Given the description of an element on the screen output the (x, y) to click on. 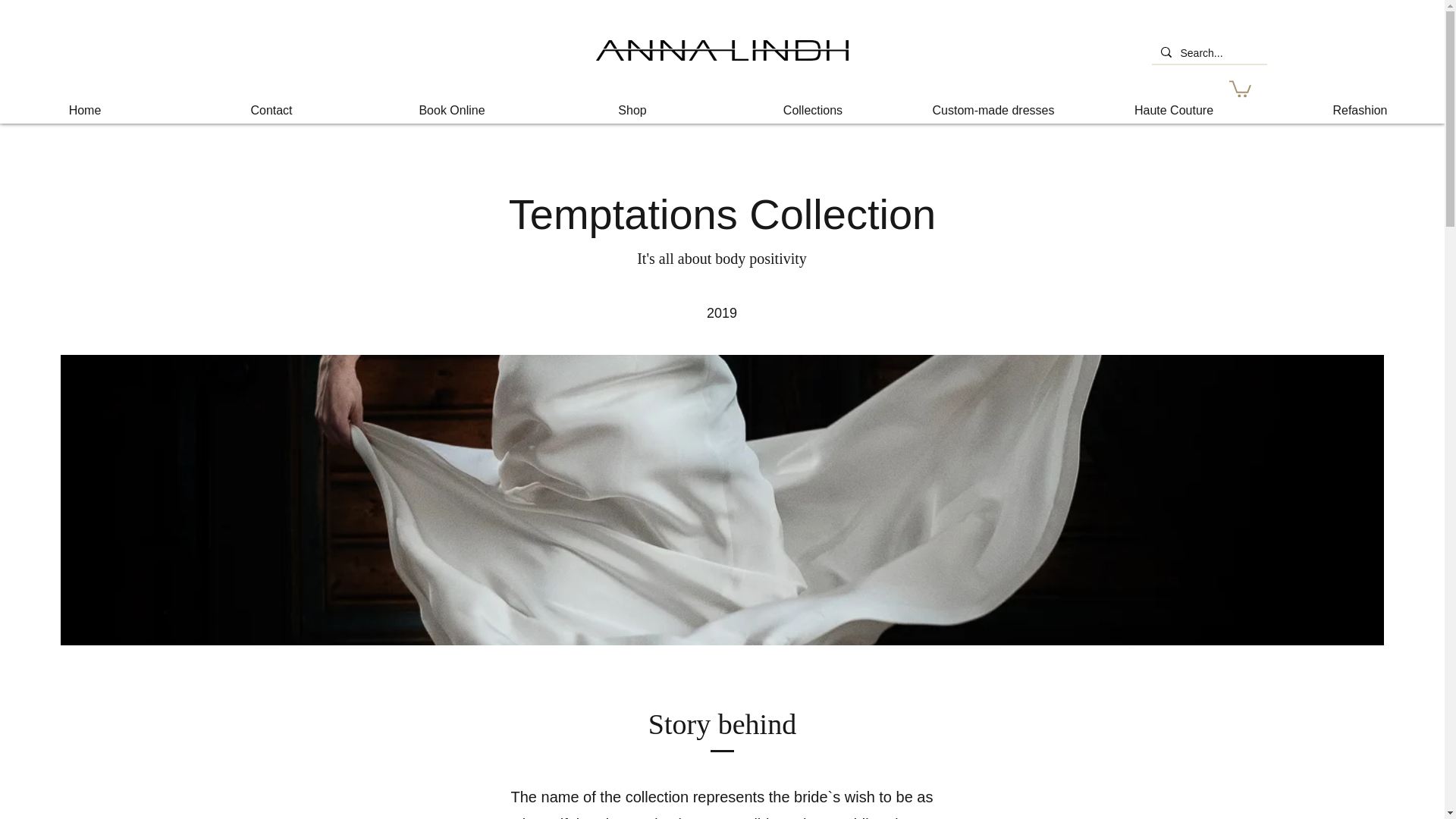
Haute Couture (1173, 109)
Home (90, 109)
Collections (812, 109)
Book Online (451, 109)
Contact (270, 109)
Shop (631, 109)
Custom-made dresses (992, 109)
